Given the description of an element on the screen output the (x, y) to click on. 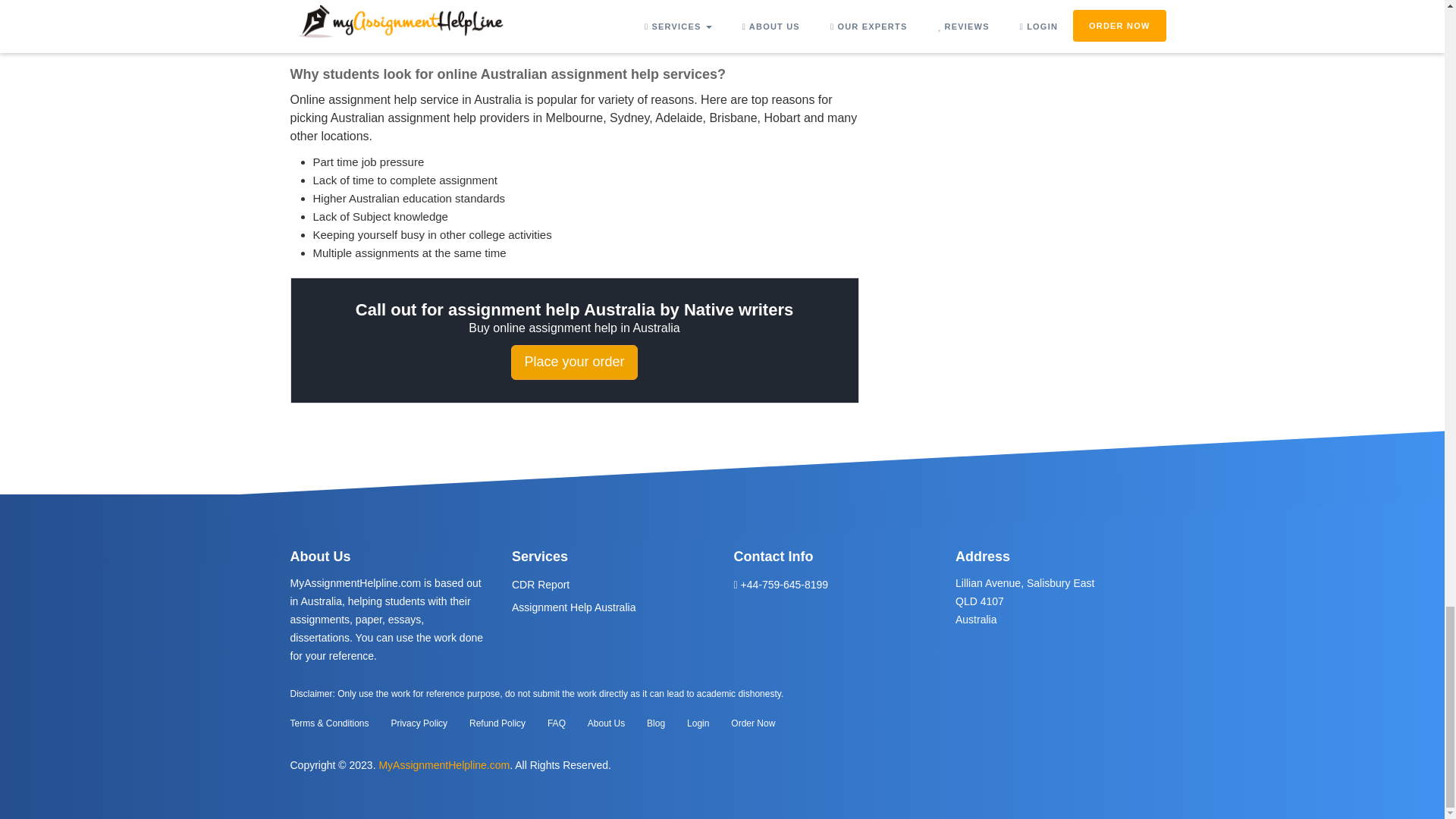
Place your order (574, 362)
Blog (655, 723)
About Us (606, 723)
Privacy Policy (418, 723)
Order Now (752, 723)
Assignment Help Australia (573, 607)
Refund Policy (496, 723)
CDR Report (540, 584)
FAQ (556, 723)
Login (698, 723)
